Given the description of an element on the screen output the (x, y) to click on. 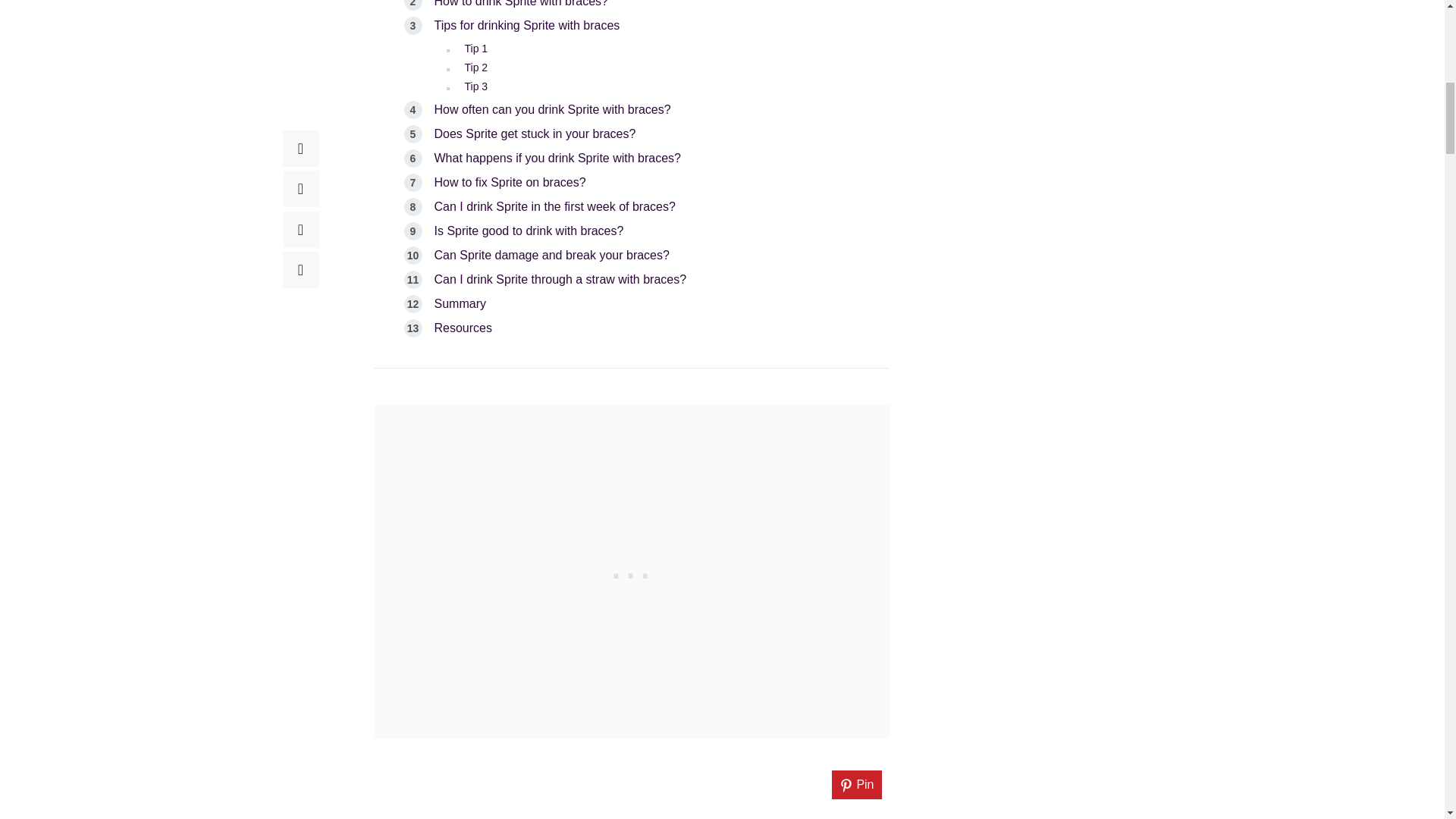
Tip 3 (475, 86)
How to drink Sprite with braces? (520, 3)
What happens if you drink Sprite with braces? (557, 157)
Tip 2 (475, 67)
Tip 1 (475, 48)
How often can you drink Sprite with braces? (551, 109)
Does Sprite get stuck in your braces? (533, 133)
Tips for drinking Sprite with braces (526, 24)
